Given the description of an element on the screen output the (x, y) to click on. 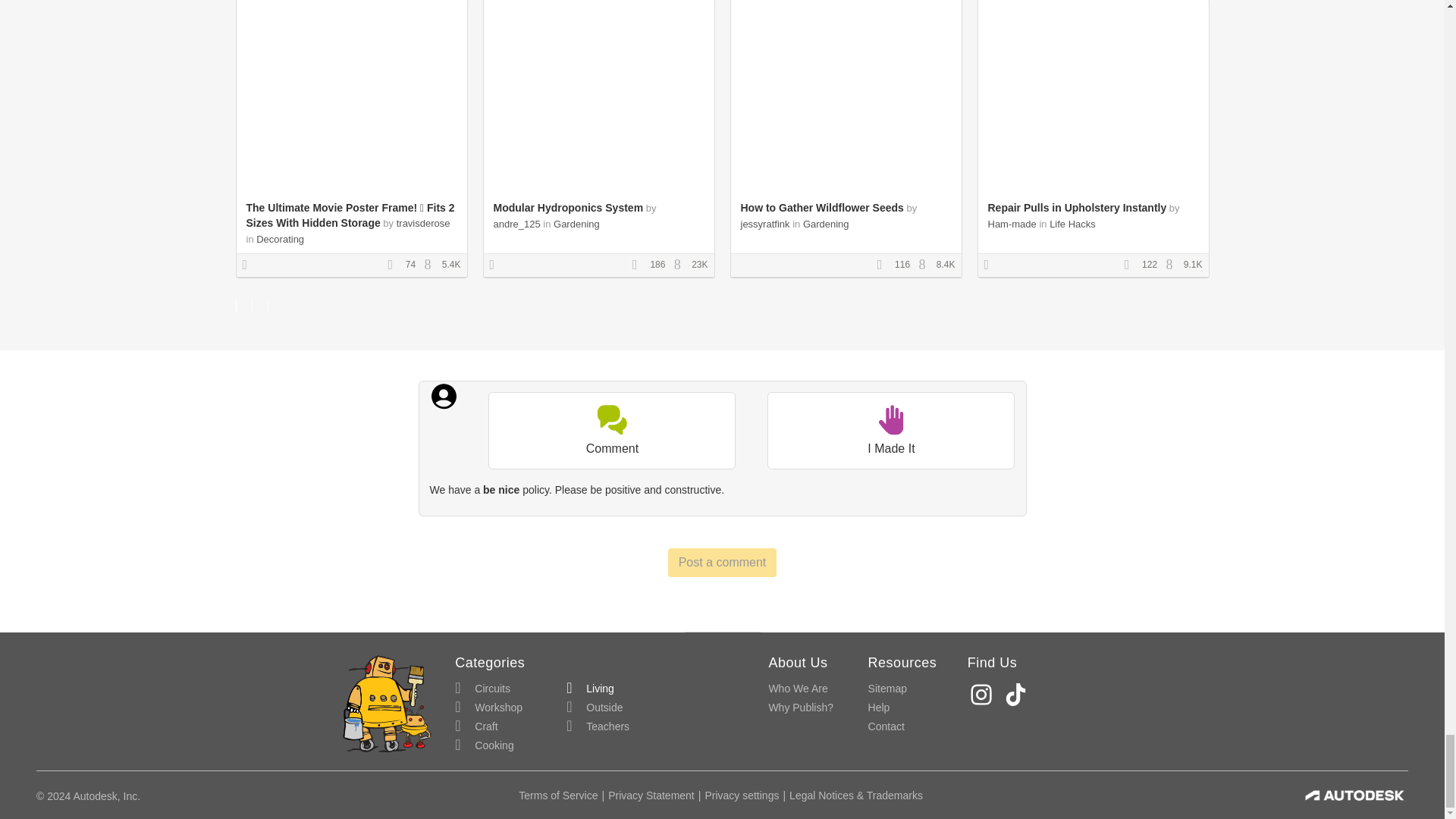
Favorites Count (884, 265)
Gardening (825, 224)
Favorites Count (395, 265)
Views Count (431, 265)
Decorating (280, 238)
Favorites Count (1132, 265)
Views Count (681, 265)
Views Count (925, 265)
Modular Hydroponics System (568, 207)
Contest Winner (497, 265)
jessyratfink (764, 224)
Instagram (983, 694)
How to Gather Wildflower Seeds (820, 207)
travisderose (422, 223)
Gardening (576, 224)
